Given the description of an element on the screen output the (x, y) to click on. 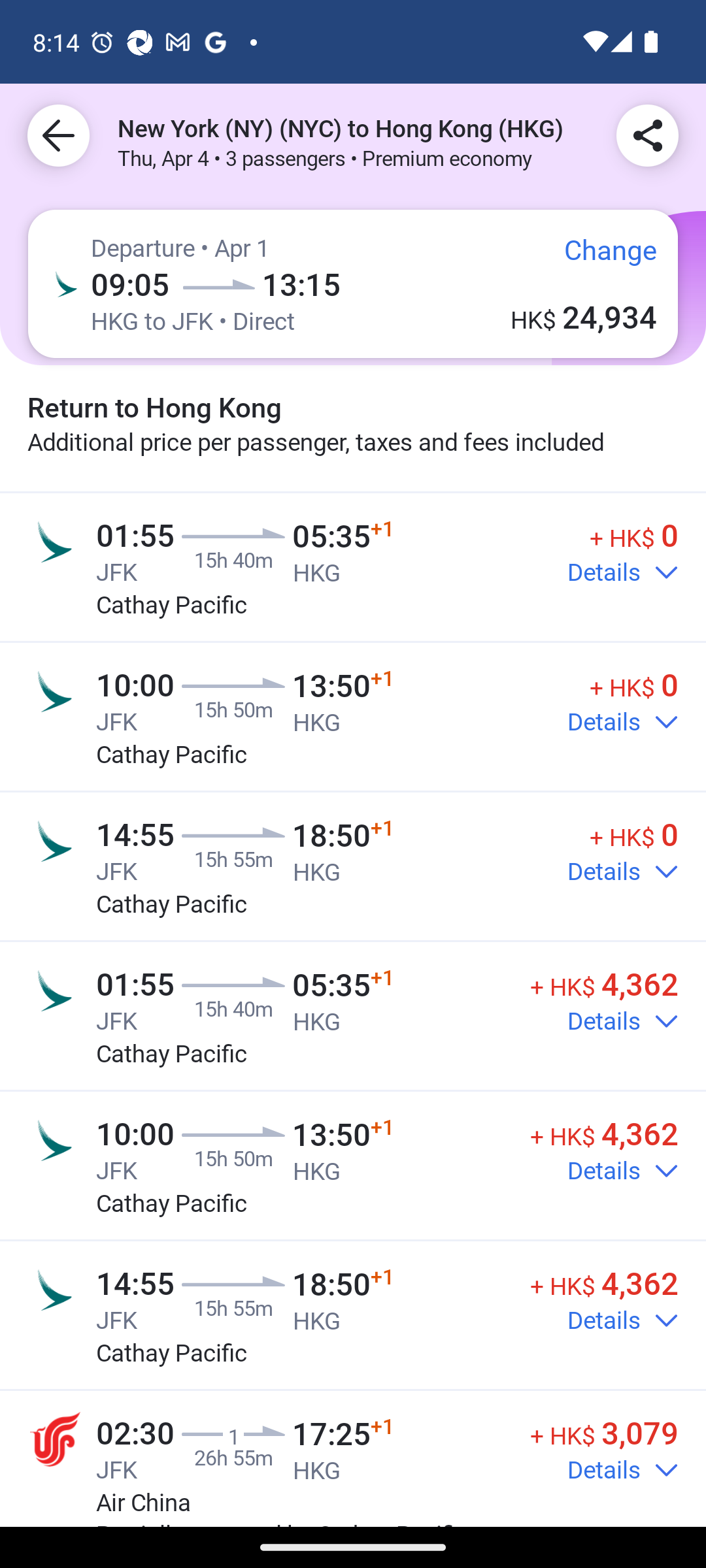
Change (596, 257)
